Given the description of an element on the screen output the (x, y) to click on. 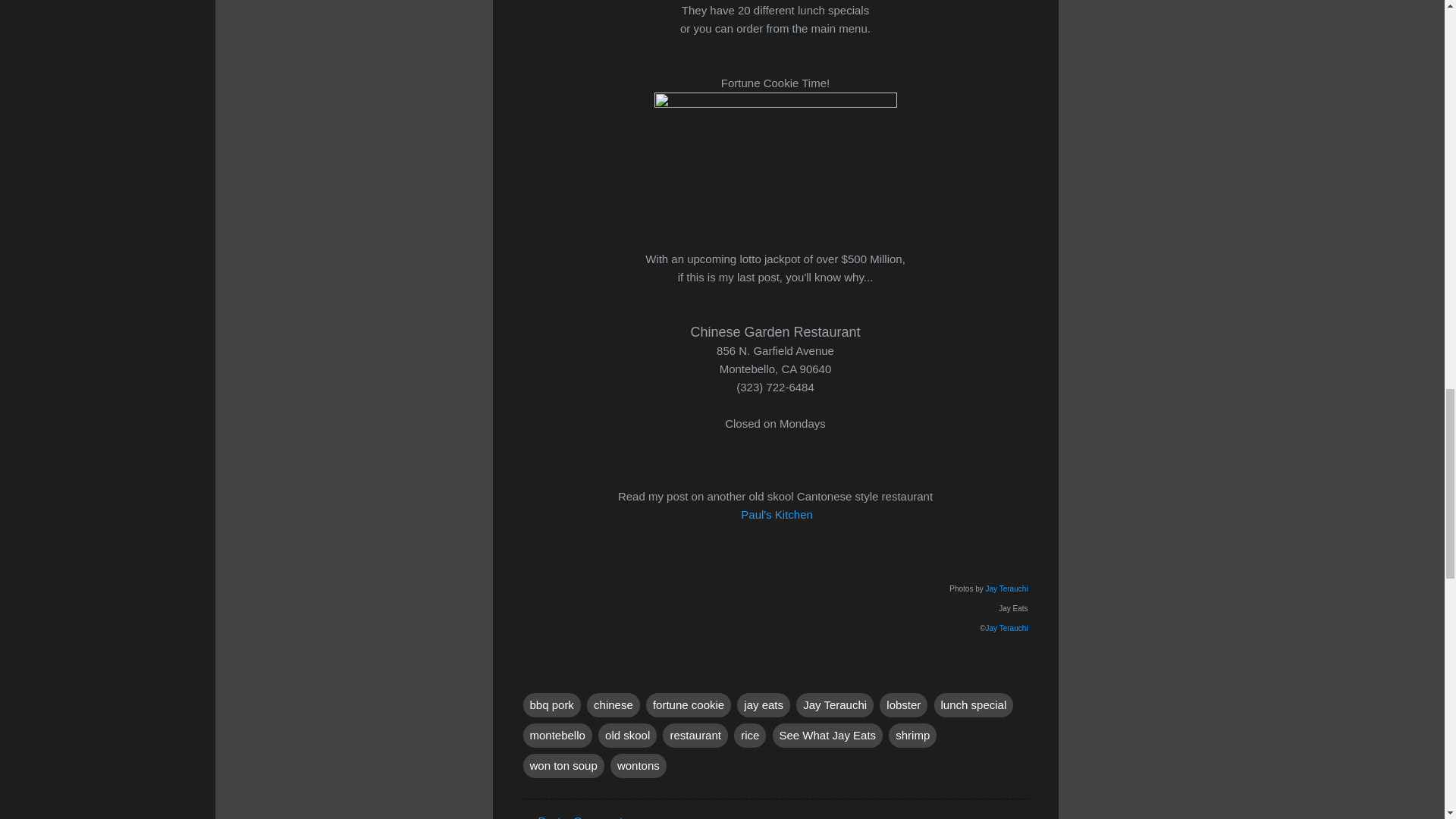
jay eats (763, 704)
See What Jay Eats (826, 735)
Jay Terauchi (834, 704)
rice (749, 735)
fortune cookie (688, 704)
Paul's Kitchen (776, 513)
old skool (627, 735)
Jay Terauchi (1006, 587)
montebello (557, 735)
wontons (638, 765)
